Given the description of an element on the screen output the (x, y) to click on. 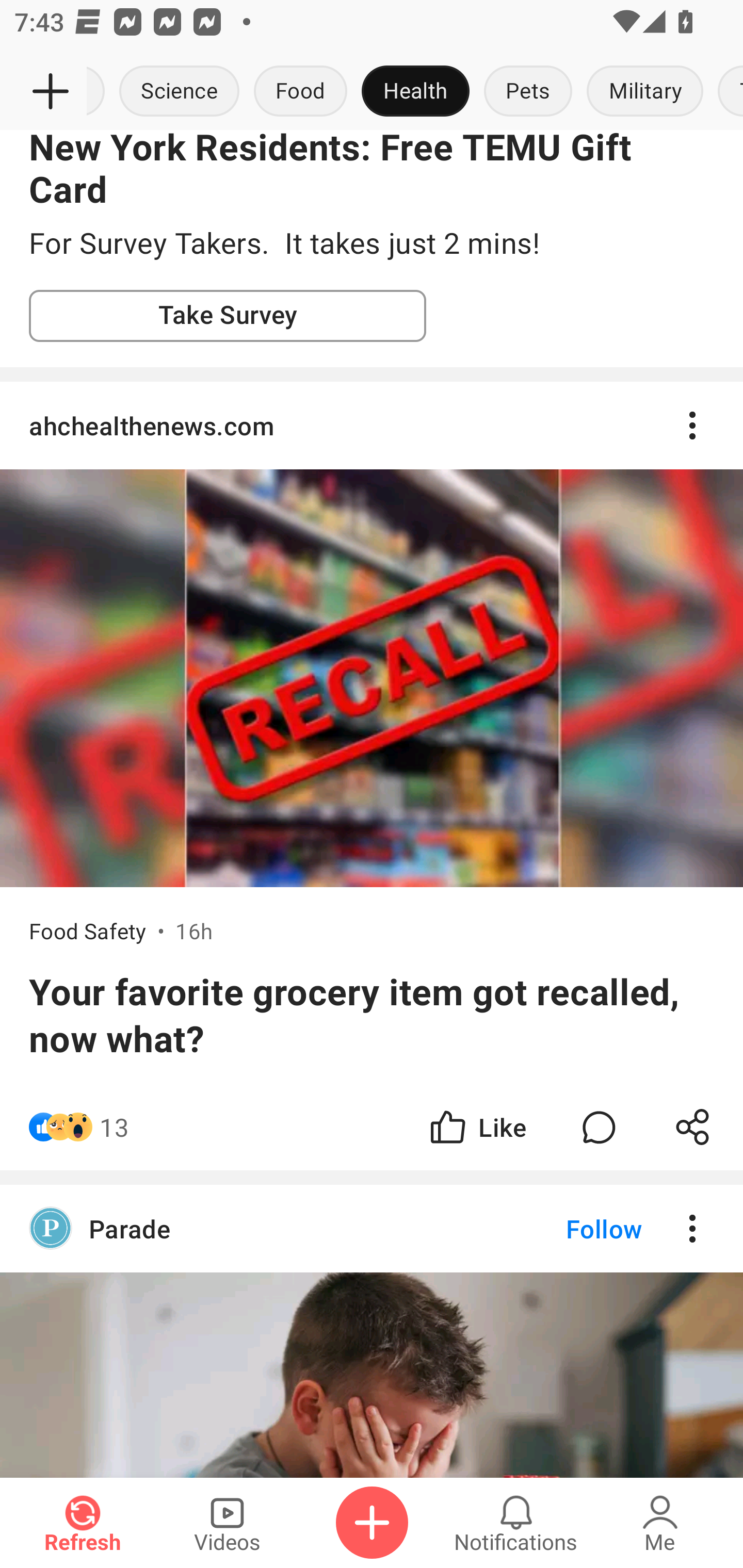
Science (179, 91)
Food (300, 91)
Health (415, 91)
Pets (528, 91)
Military (644, 91)
New York Residents: Free TEMU Gift Card (371, 171)
For Survey Takers.  It takes just 2 mins! (371, 244)
Take Survey (227, 315)
ahchealthenews.com (371, 424)
13 (114, 1126)
Like (476, 1126)
Parade Follow (371, 1229)
Follow (569, 1229)
Videos (227, 1522)
Notifications (516, 1522)
Me (659, 1522)
